Given the description of an element on the screen output the (x, y) to click on. 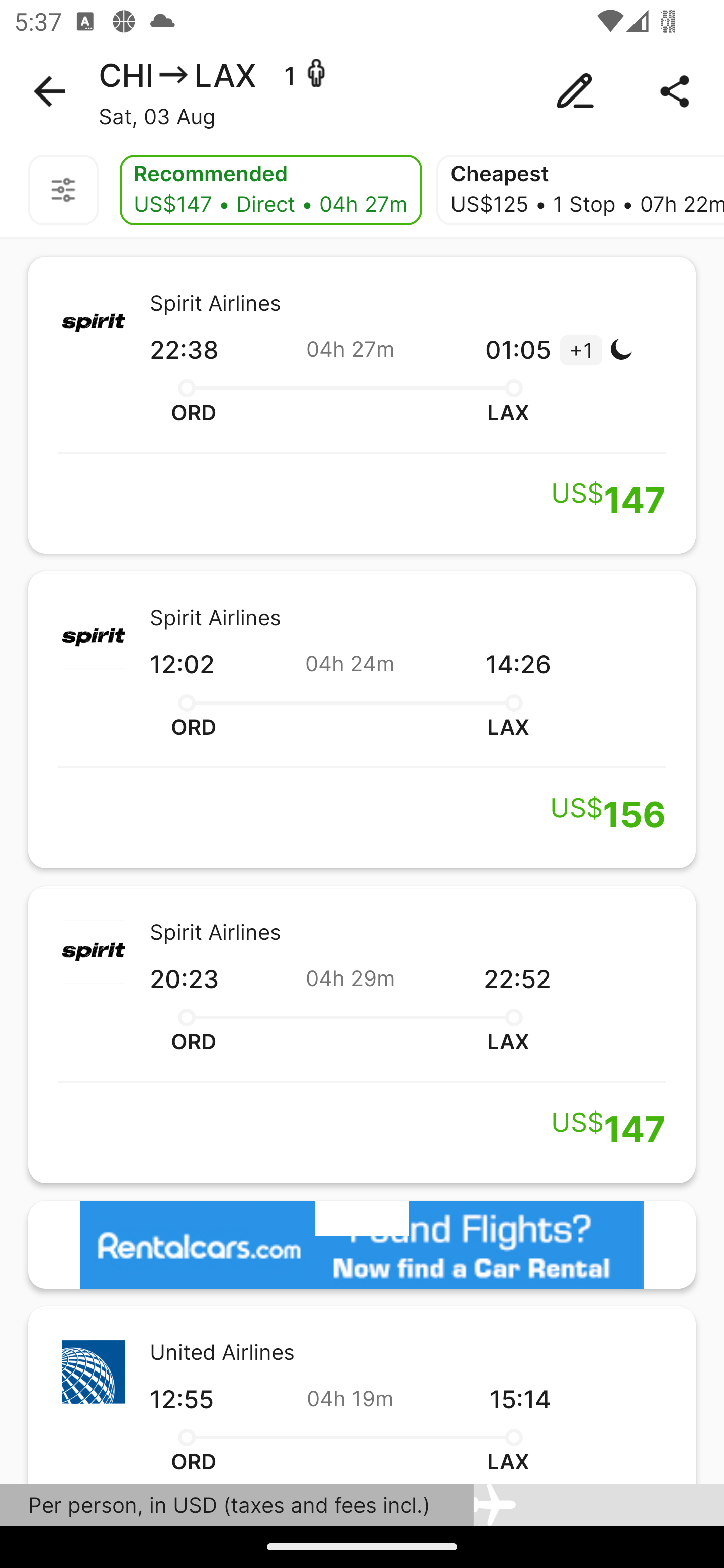
CHI LAX   1 - Sat, 03 Aug (361, 91)
Recommended  US$147 • Direct • 04h 27m (270, 190)
Cheapest US$125 • 1 Stop • 07h 22m (580, 190)
Spirit Airlines 22:38 04h 27m 01:05 ORD LAX +1 (361, 405)
Spirit Airlines 12:02 04h 24m 14:26 ORD LAX (361, 719)
Spirit Airlines 20:23 04h 29m 22:52 ORD LAX (361, 1033)
United Airlines 12:55 04h 19m 15:14 ORD LAX (361, 1394)
